Given the description of an element on the screen output the (x, y) to click on. 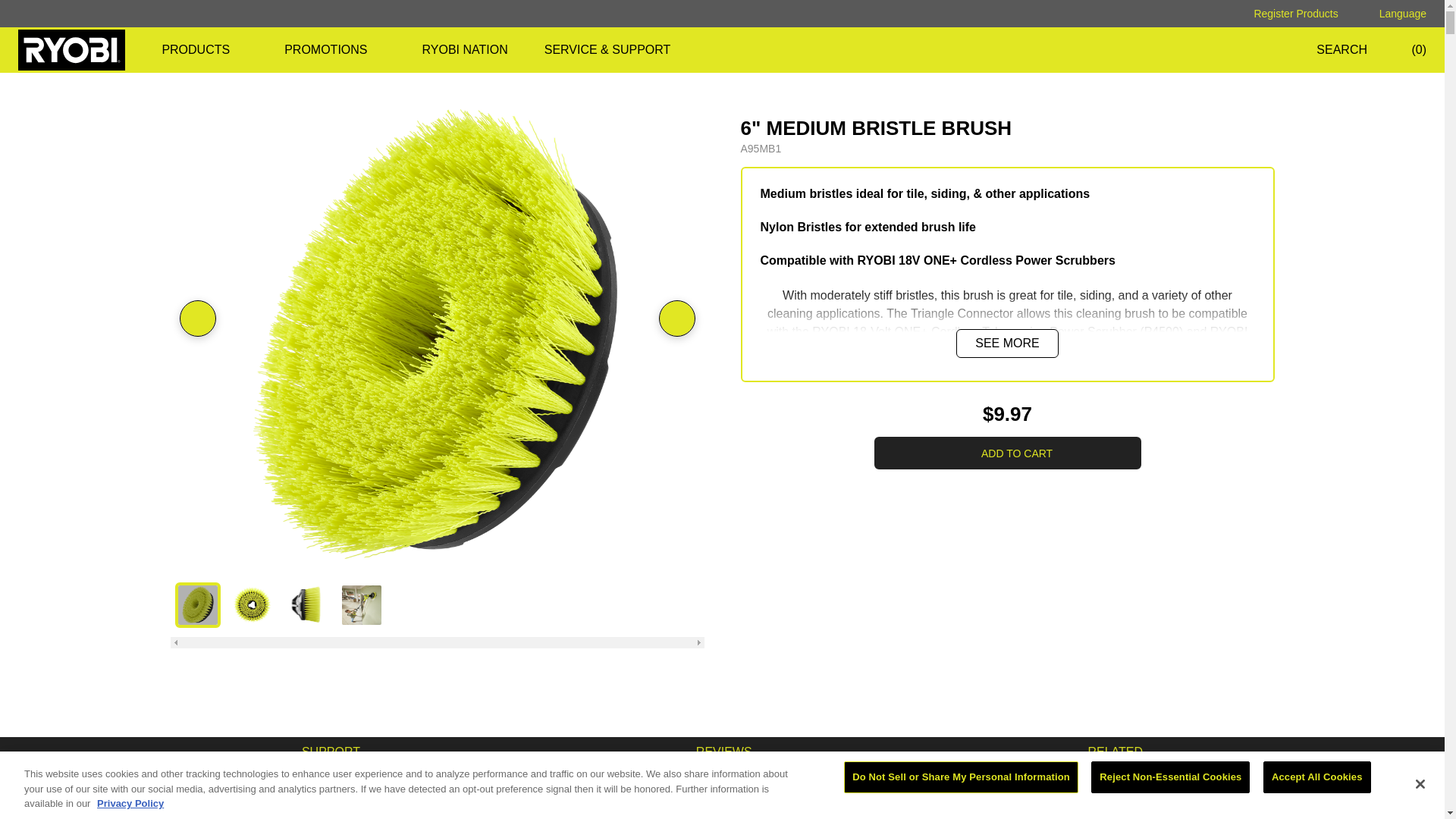
Submit (159, 49)
SEE MORE (1007, 343)
REVIEWS (723, 751)
Navigate to the previous slide (197, 318)
Register Products (1284, 13)
RELATED (1115, 751)
RYOBI NATION (465, 49)
ADD TO CART (1006, 452)
Navigate to the next slide (676, 318)
Order at The Home Depot (1006, 452)
Language (1391, 13)
RYOBI Tools homepage (71, 49)
SUPPORT (330, 751)
Language (1391, 13)
Register Products (1284, 13)
